Given the description of an element on the screen output the (x, y) to click on. 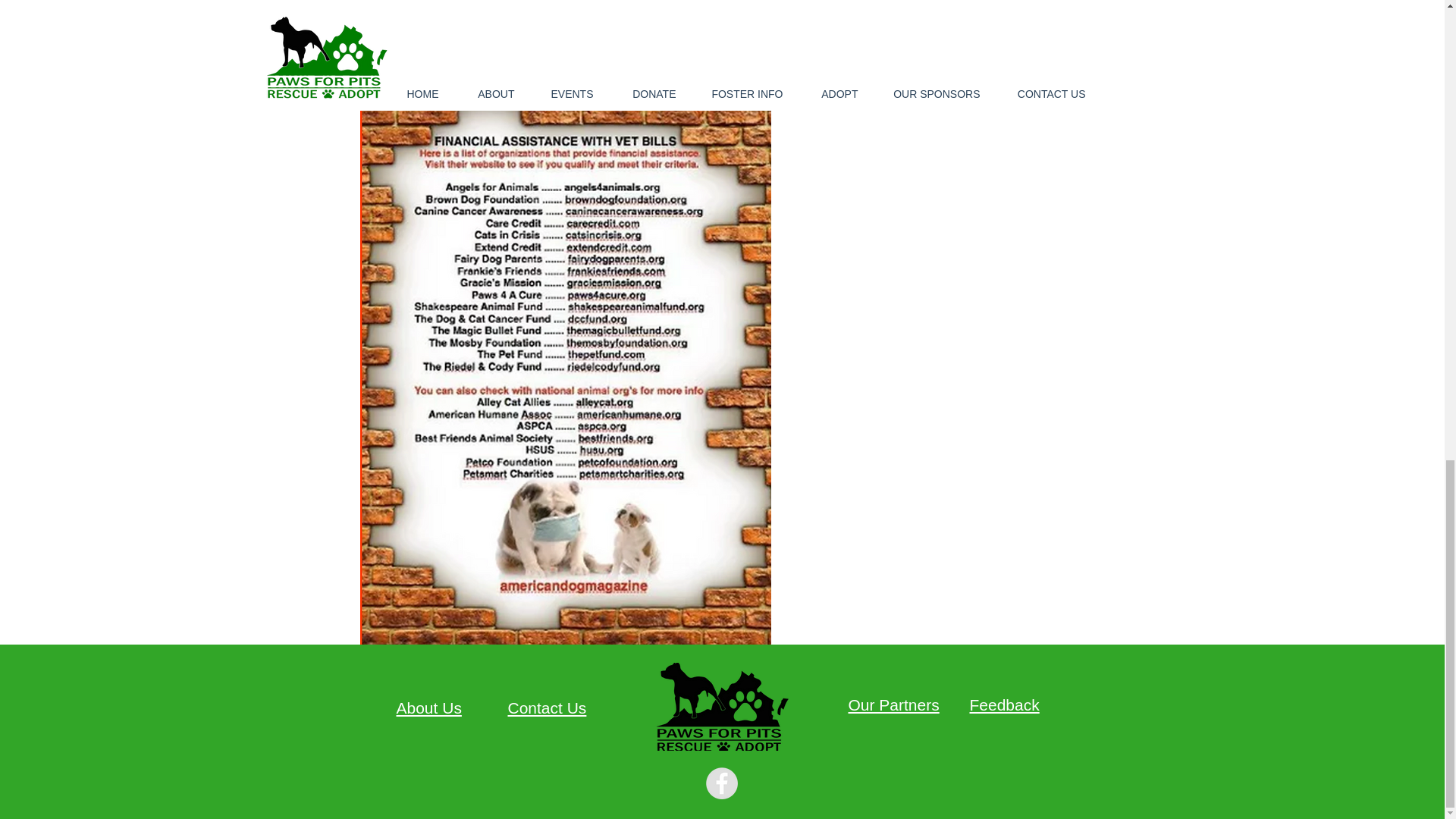
Contact Us (547, 707)
About Us (428, 707)
Feedback (1004, 704)
Our Partners (893, 704)
